Given the description of an element on the screen output the (x, y) to click on. 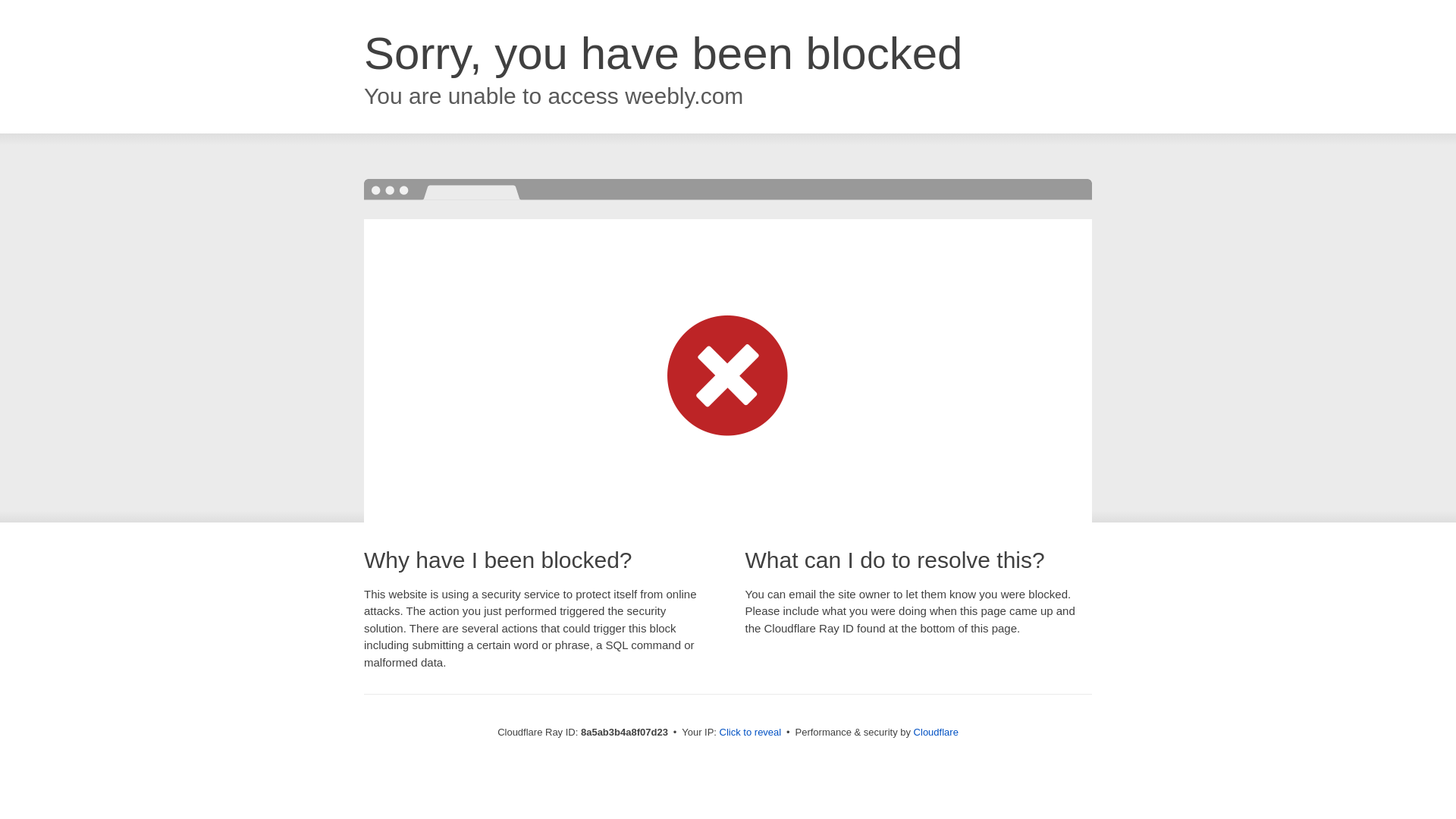
Cloudflare (936, 731)
Click to reveal (750, 732)
